Given the description of an element on the screen output the (x, y) to click on. 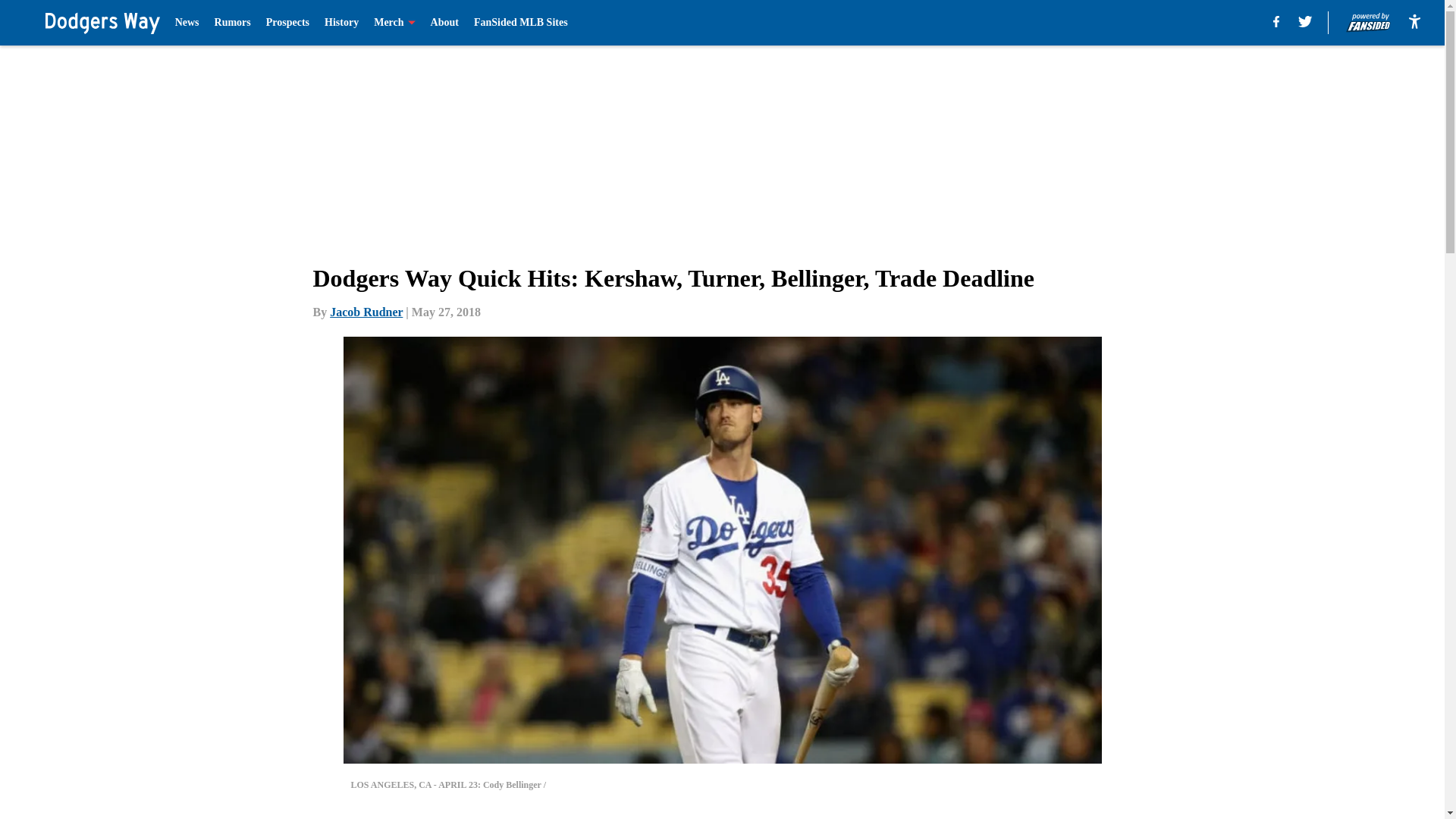
Jacob Rudner (366, 311)
Prospects (287, 22)
FanSided MLB Sites (520, 22)
Rumors (232, 22)
News (186, 22)
About (444, 22)
History (341, 22)
